Given the description of an element on the screen output the (x, y) to click on. 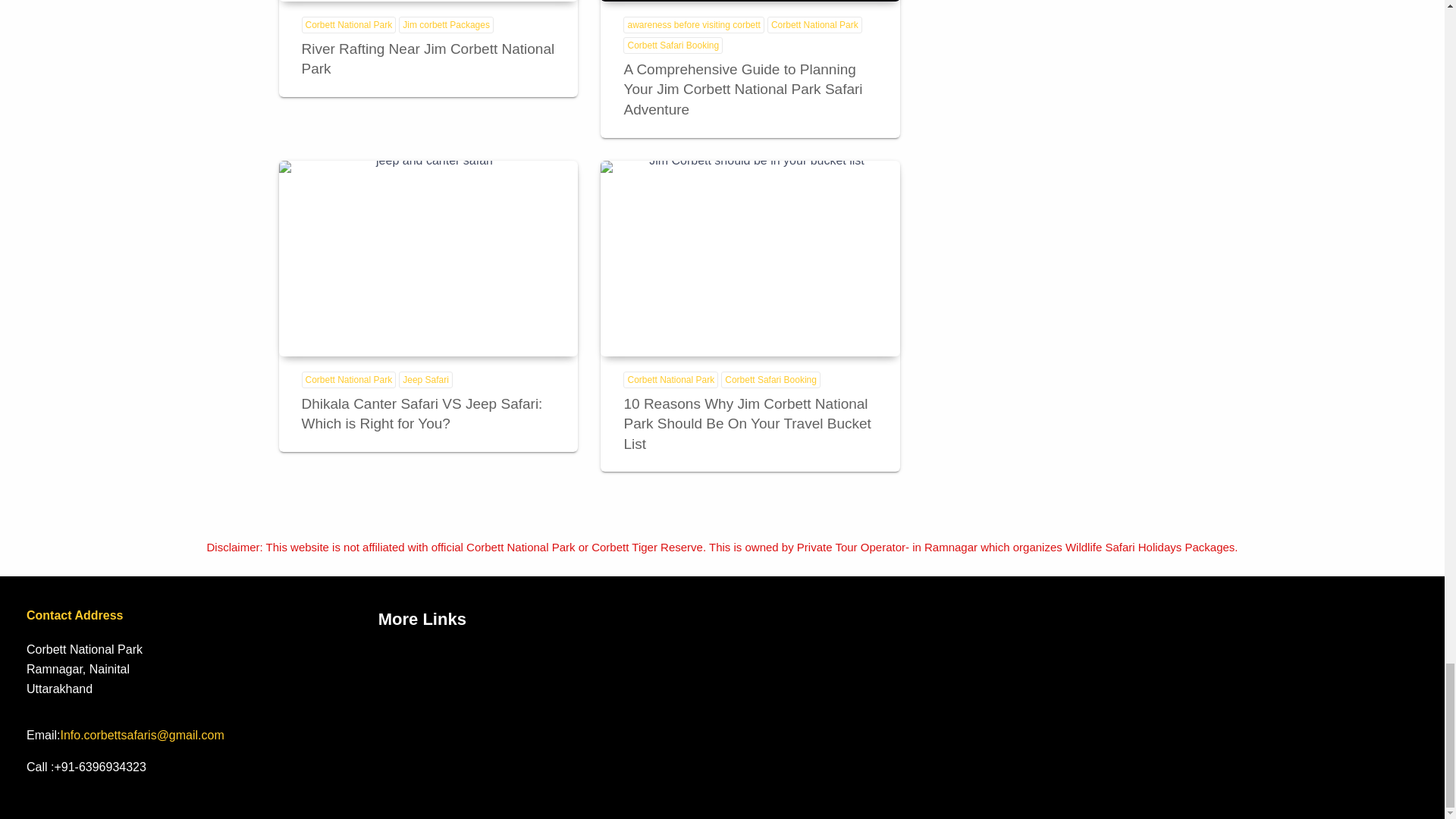
Corbett National Park (348, 24)
Jim corbett Packages (445, 24)
